Given the description of an element on the screen output the (x, y) to click on. 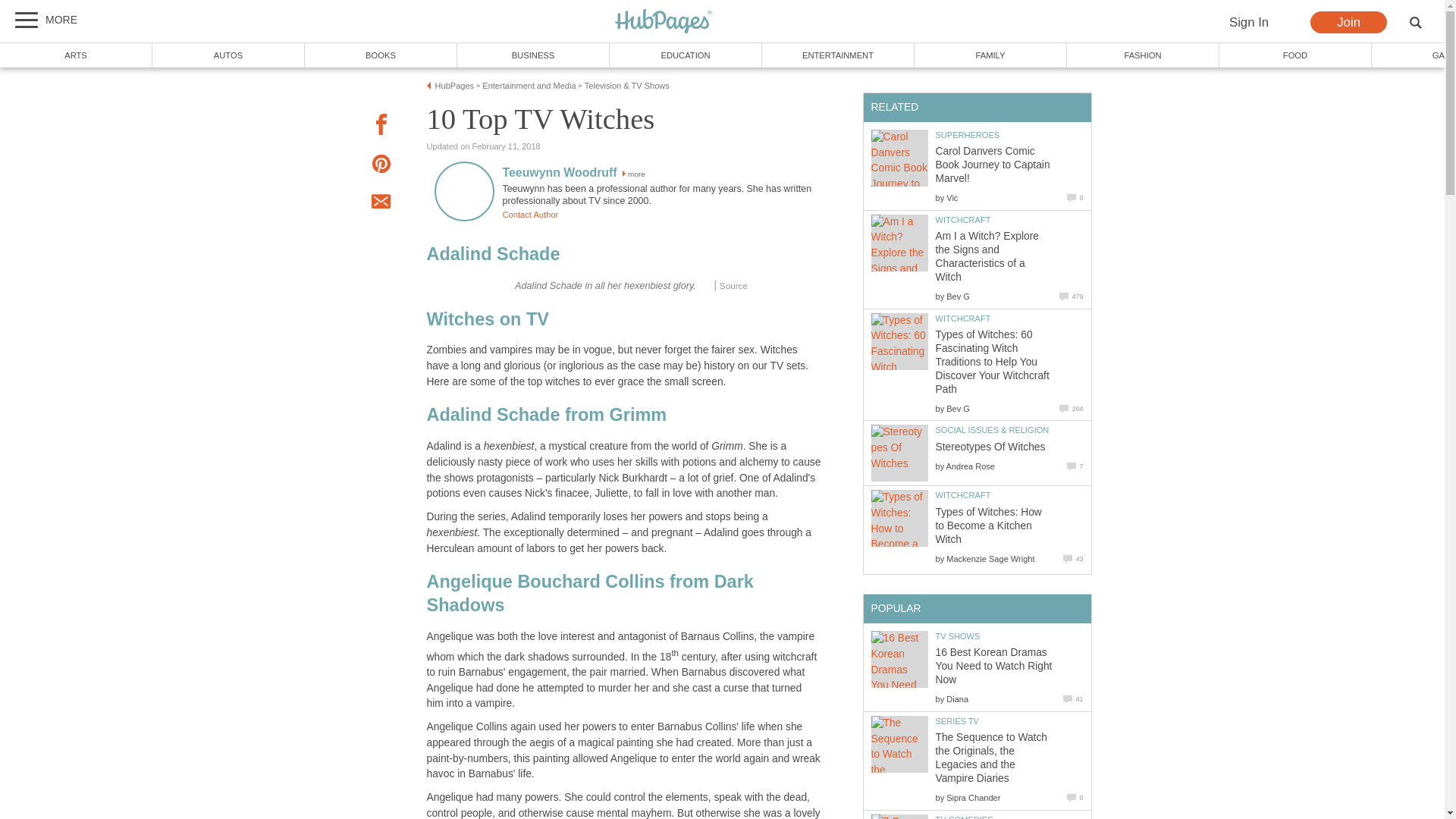
ENTERTAINMENT (837, 55)
Entertainment and Media (528, 85)
AUTOS (228, 55)
ARTS (76, 55)
Join (1348, 22)
SUPERHEROES (968, 134)
HubPages (663, 22)
HubPages (663, 22)
BOOKS (380, 55)
HubPages (454, 85)
